Given the description of an element on the screen output the (x, y) to click on. 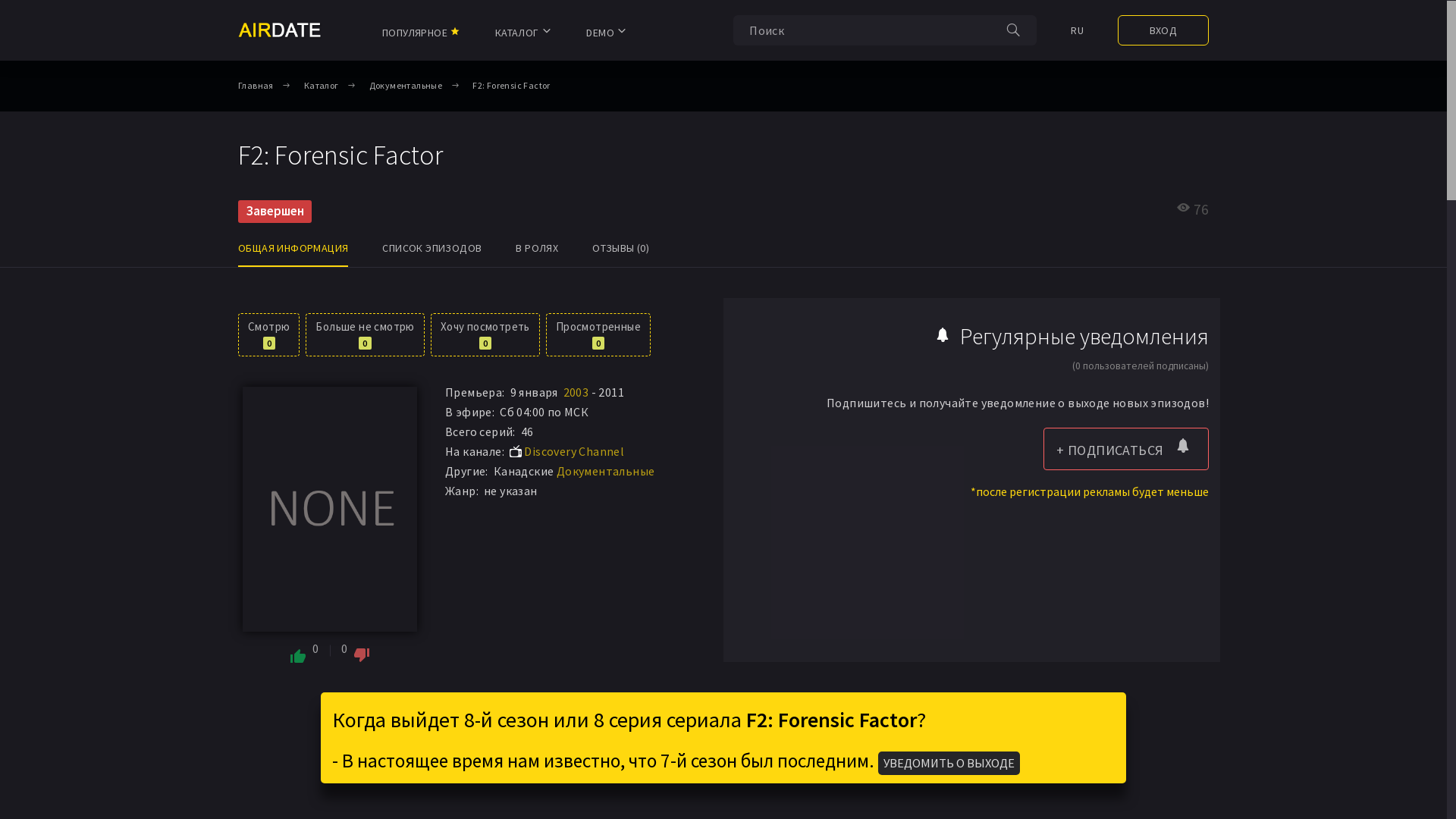
F2: Forensic Factor-52892 Element type: hover (329, 509)
RU Element type: text (1076, 30)
Discovery Channel Element type: text (574, 451)
2003 Element type: text (576, 392)
0 Element type: text (303, 651)
DEMO Element type: text (606, 30)
0 Element type: text (356, 651)
global page search Element type: hover (1012, 32)
